Given the description of an element on the screen output the (x, y) to click on. 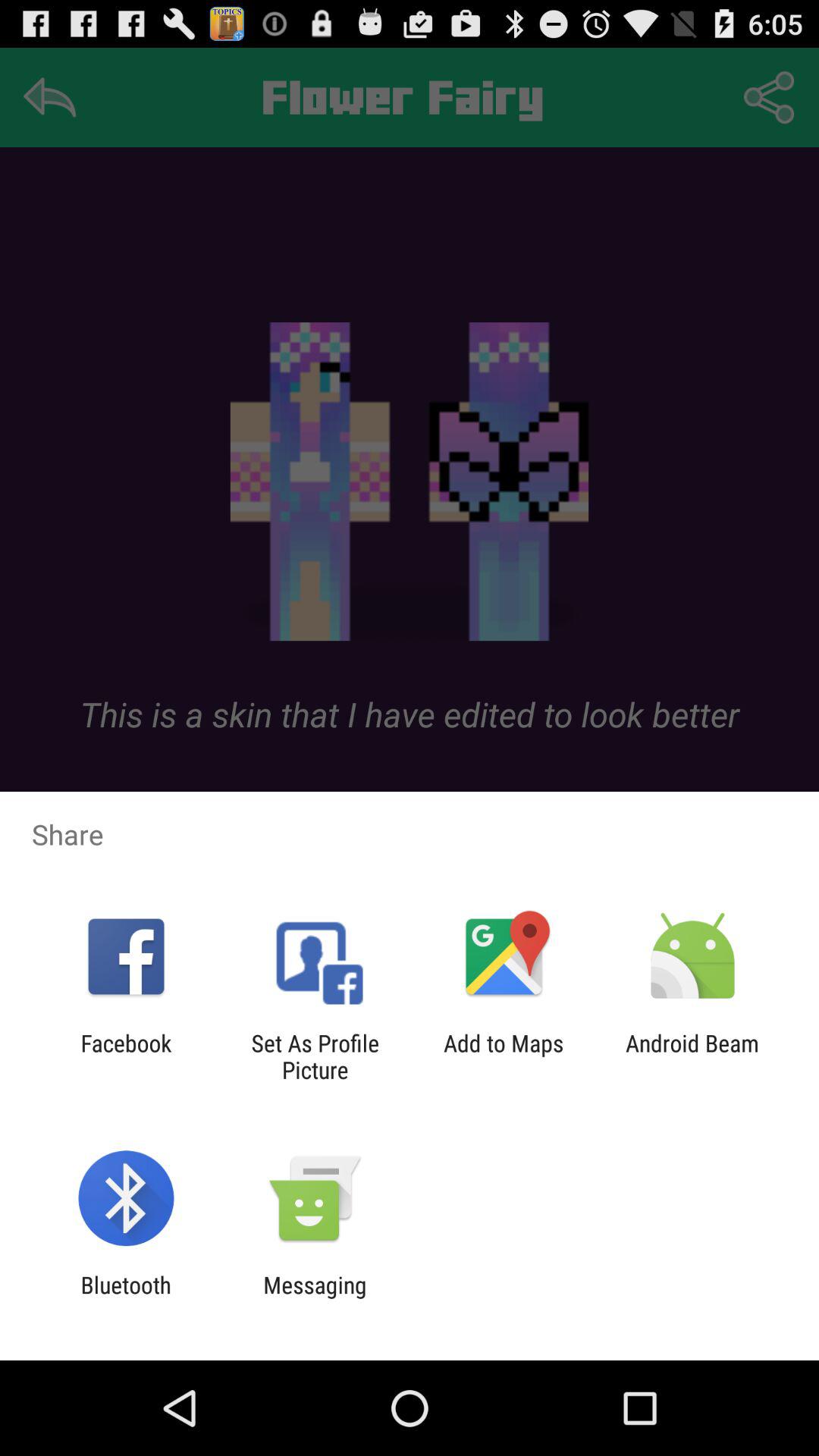
tap app next to the add to maps item (314, 1056)
